Given the description of an element on the screen output the (x, y) to click on. 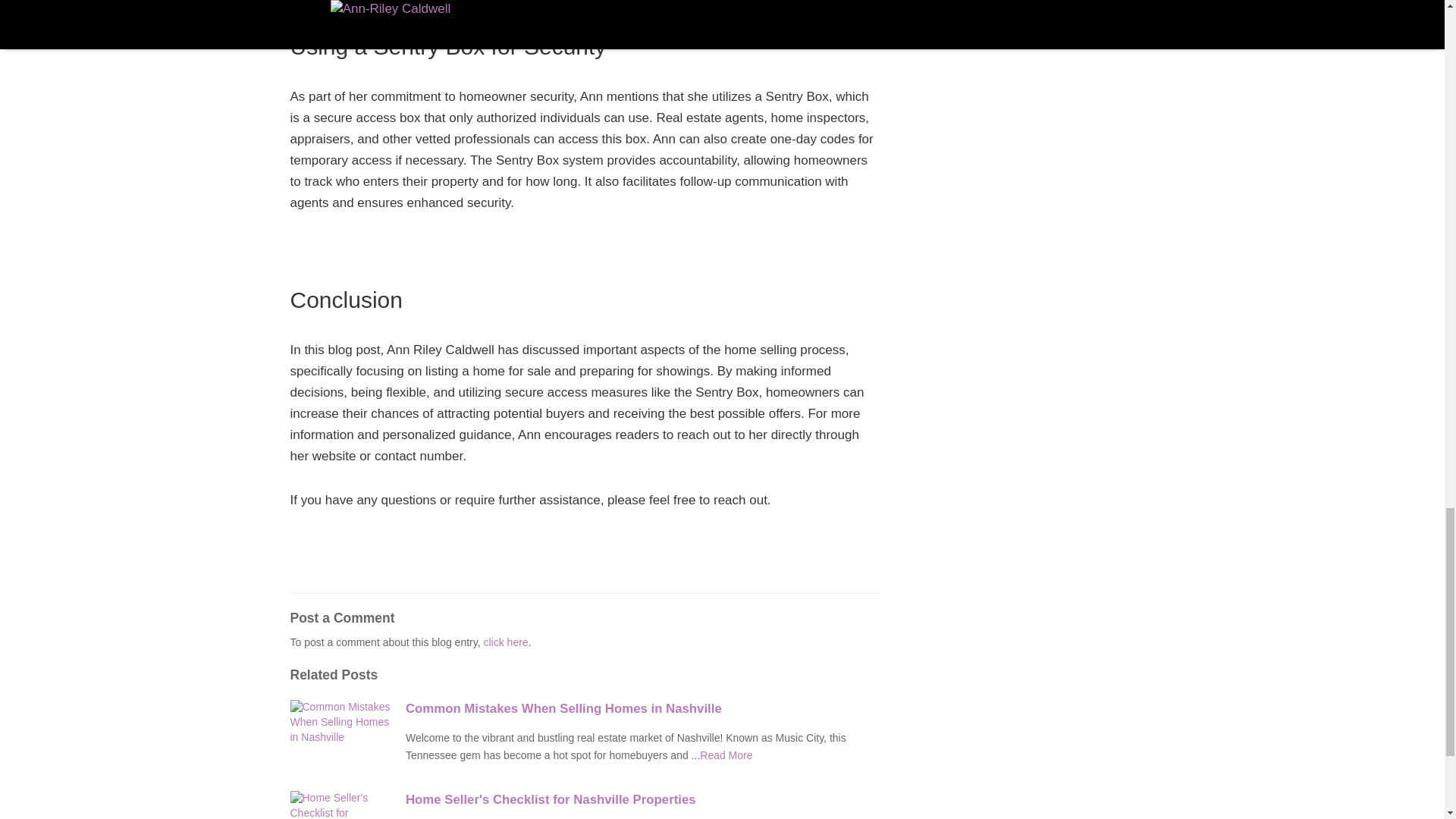
Home Seller's Checklist for Nashville Properties (643, 800)
Listing and Showing Your Property in Nashville, TN (726, 755)
Common Mistakes When Selling Homes in Nashville (643, 709)
